Given the description of an element on the screen output the (x, y) to click on. 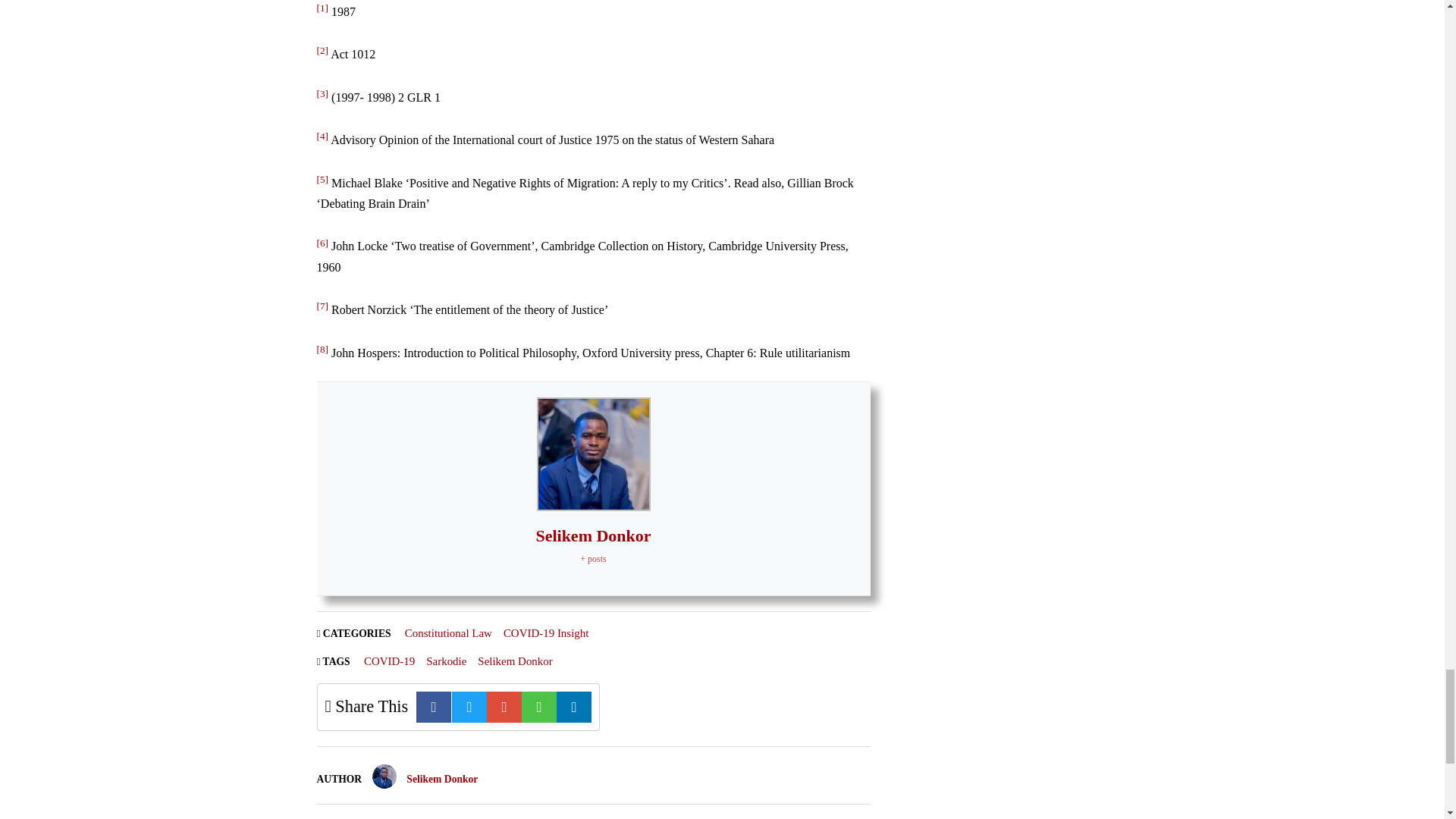
Google-plus (503, 706)
Twitter (468, 706)
Facebook (433, 706)
